Given the description of an element on the screen output the (x, y) to click on. 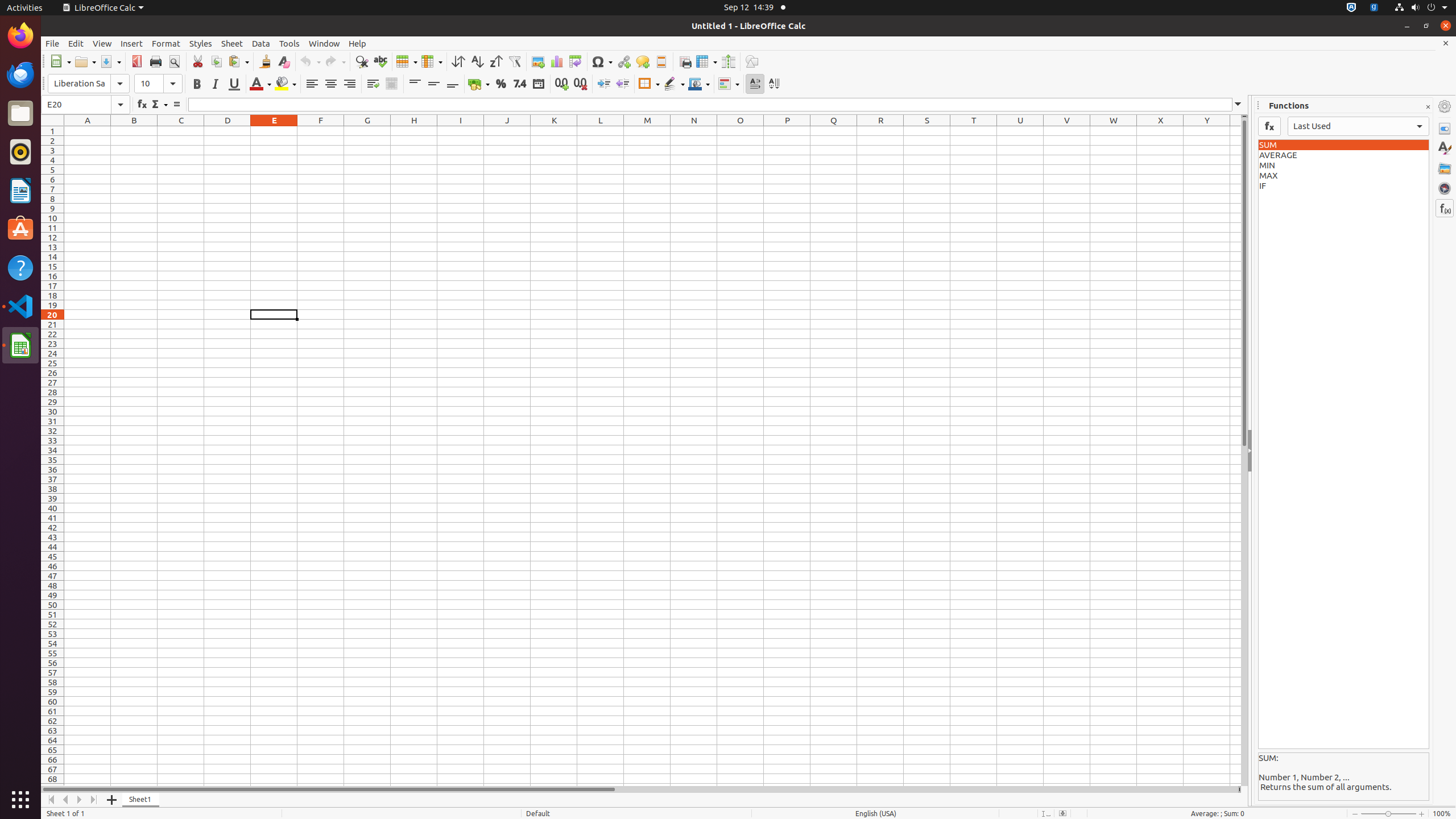
:1.21/StatusNotifierItem Element type: menu (1373, 7)
Number Element type: push-button (519, 83)
MIN Element type: list-item (1343, 165)
Font Size Element type: combo-box (158, 83)
